Given the description of an element on the screen output the (x, y) to click on. 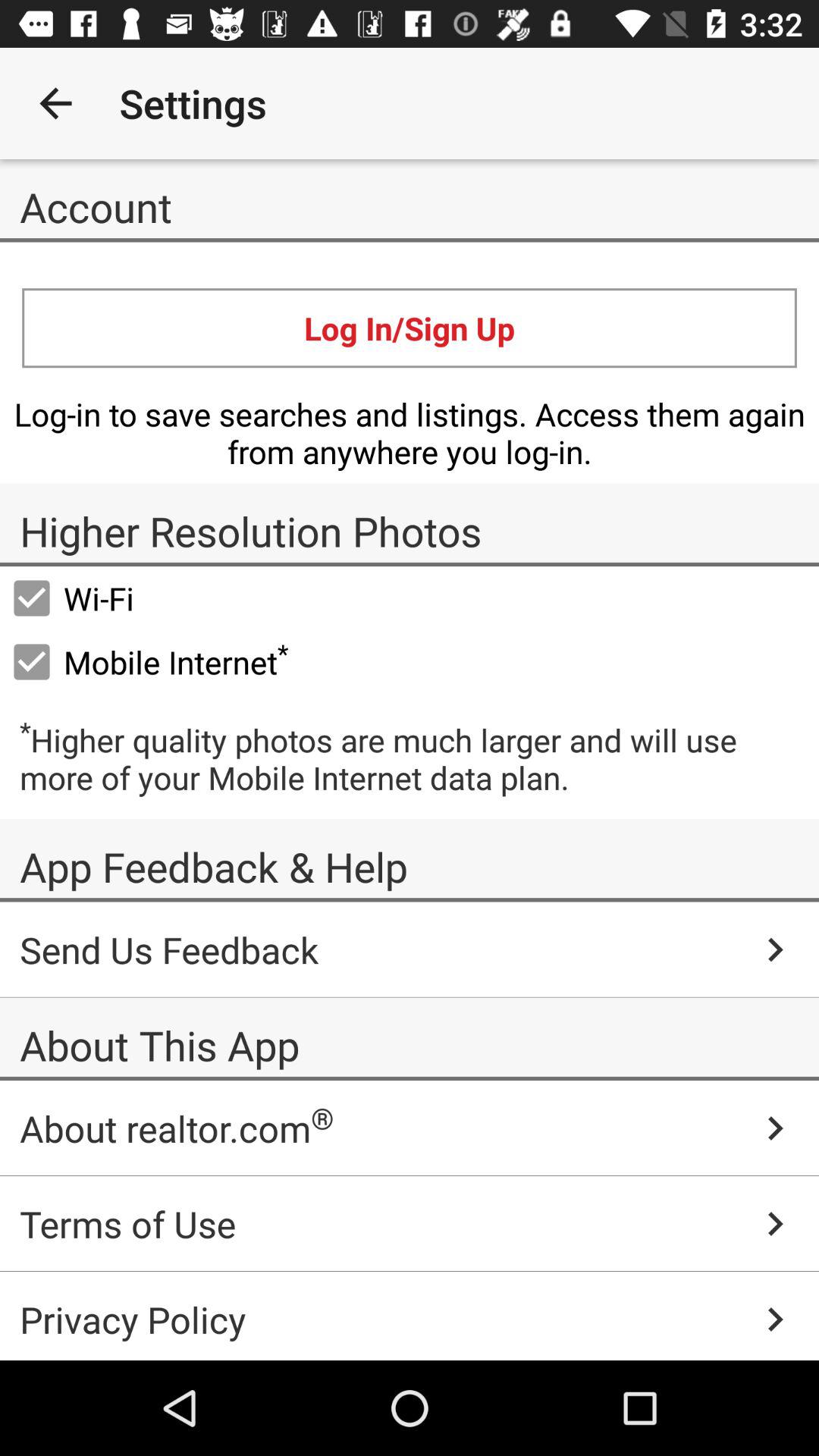
select app to the right of the settings icon (639, 103)
